Given the description of an element on the screen output the (x, y) to click on. 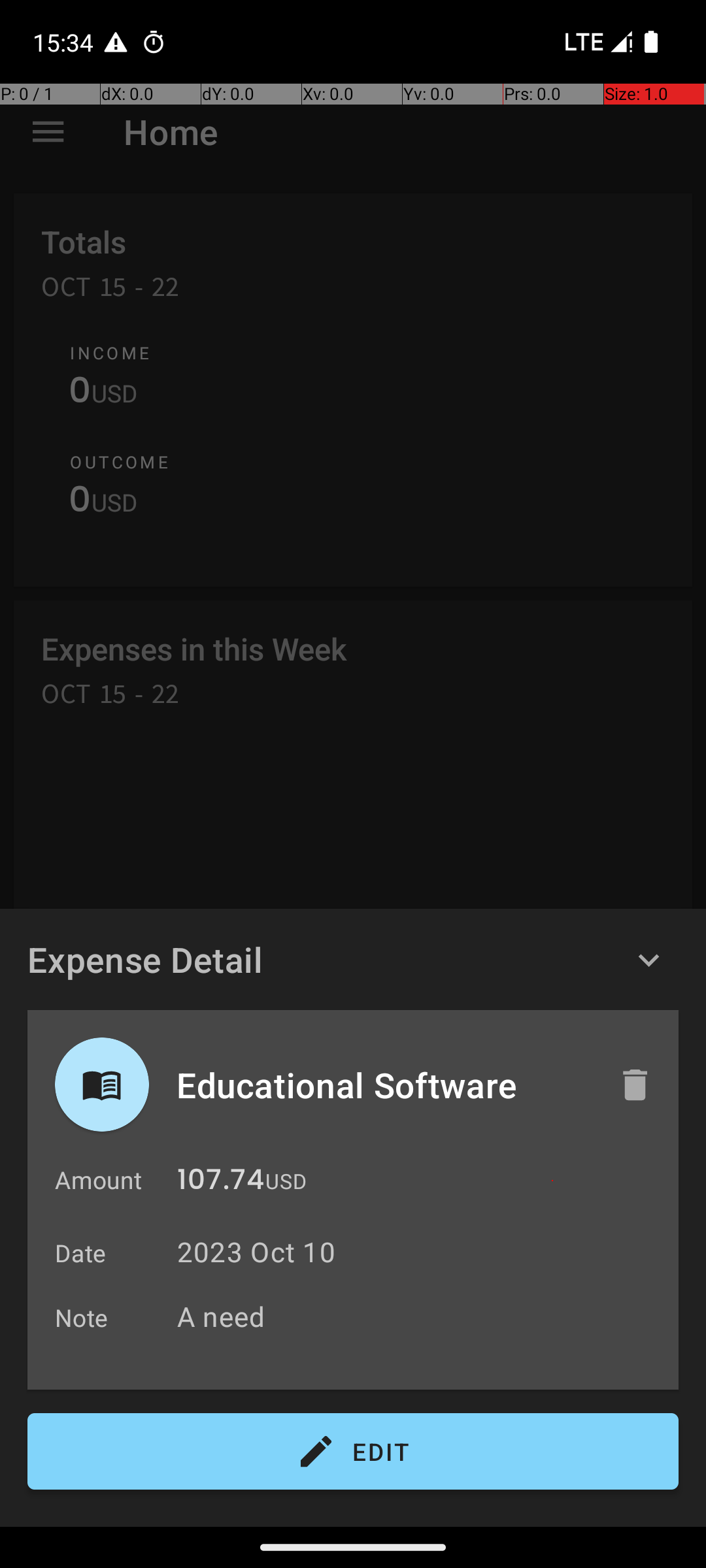
Educational Software Element type: android.widget.TextView (383, 1084)
107.74 Element type: android.widget.TextView (220, 1182)
